Given the description of an element on the screen output the (x, y) to click on. 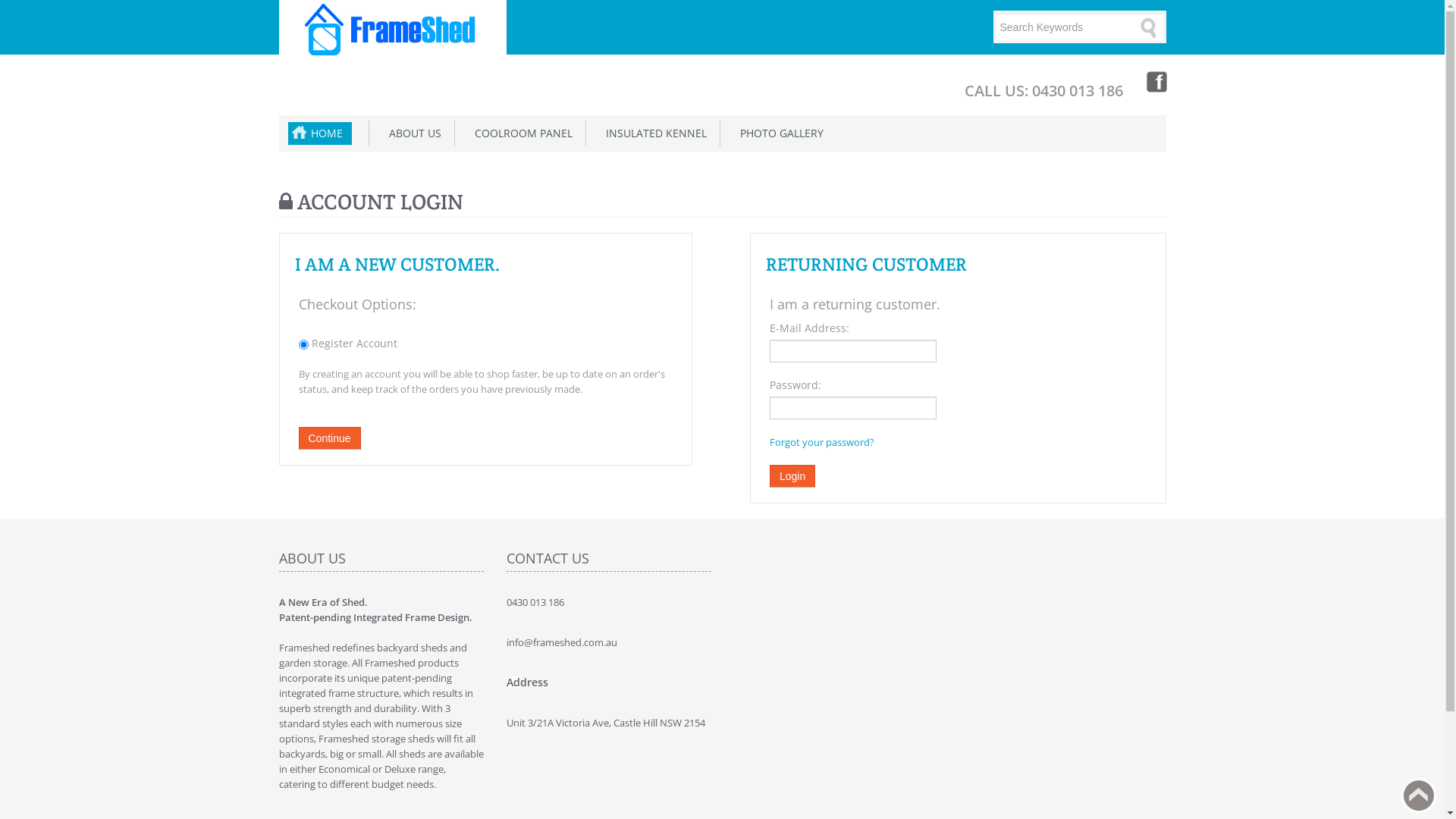
  ABOUT US Element type: text (411, 133)
Forgot your password? Element type: text (821, 441)
Login Element type: text (792, 475)
  INSULATED KENNEL Element type: text (652, 133)
Facebook Element type: text (1154, 80)
  PHOTO GALLERY Element type: text (778, 133)
Go Element type: hover (1150, 27)
Frameshed and Patio Supply Element type: hover (391, 30)
  COOLROOM PANEL Element type: text (520, 133)
Continue Element type: text (329, 437)
Back to top Element type: text (1418, 795)
HOME Element type: text (319, 133)
